Given the description of an element on the screen output the (x, y) to click on. 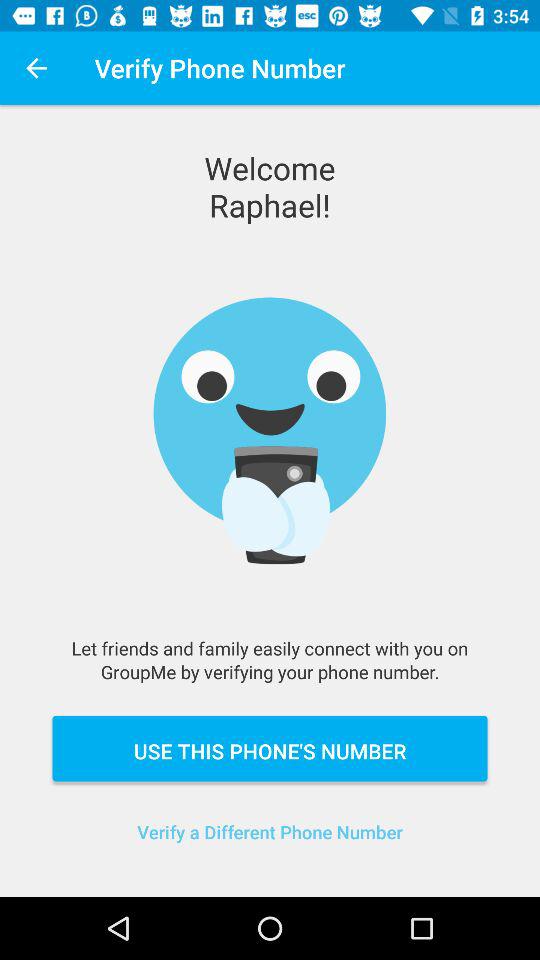
press the icon above the verify a different icon (269, 748)
